Given the description of an element on the screen output the (x, y) to click on. 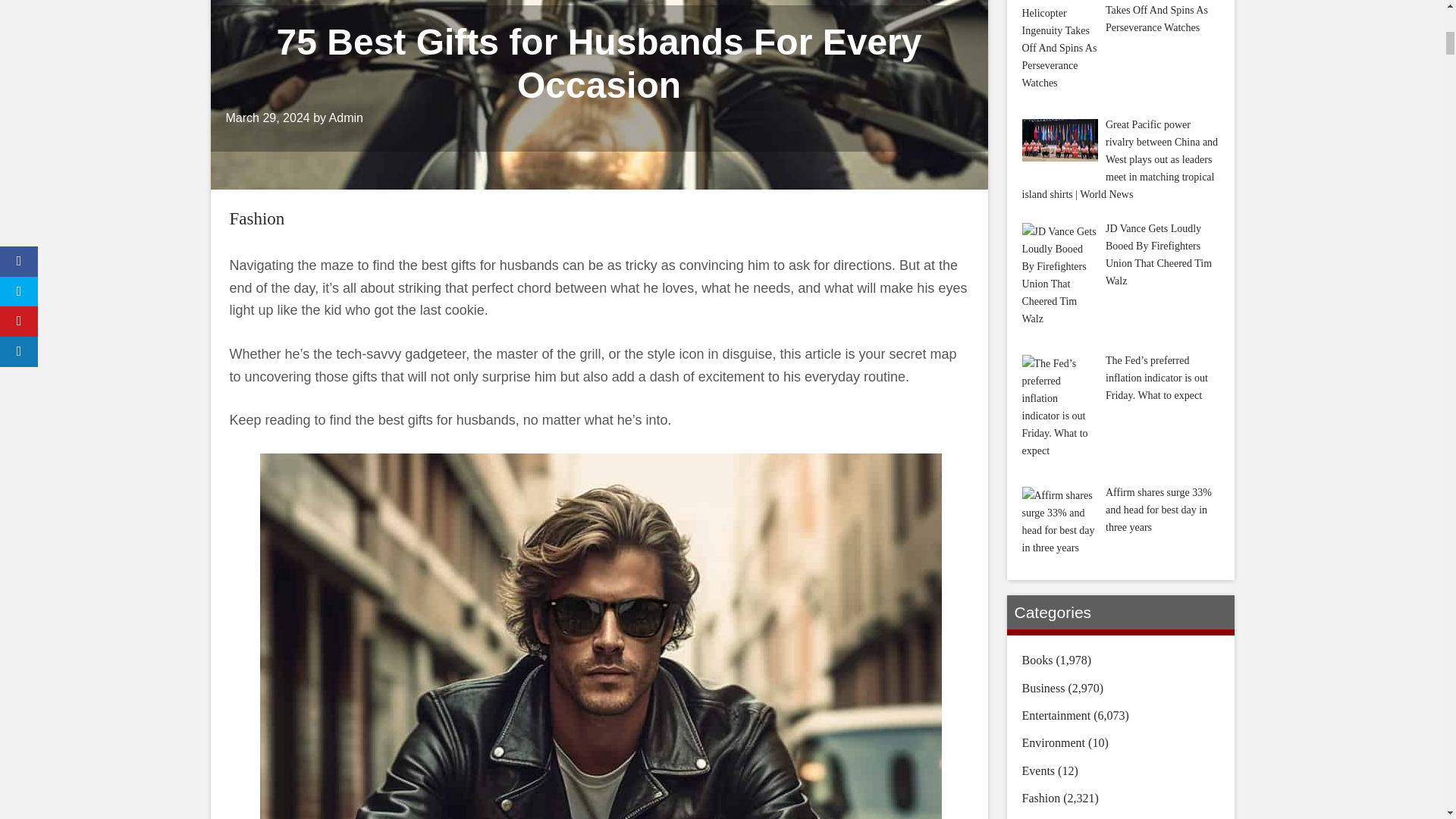
Fashion (255, 218)
